Given the description of an element on the screen output the (x, y) to click on. 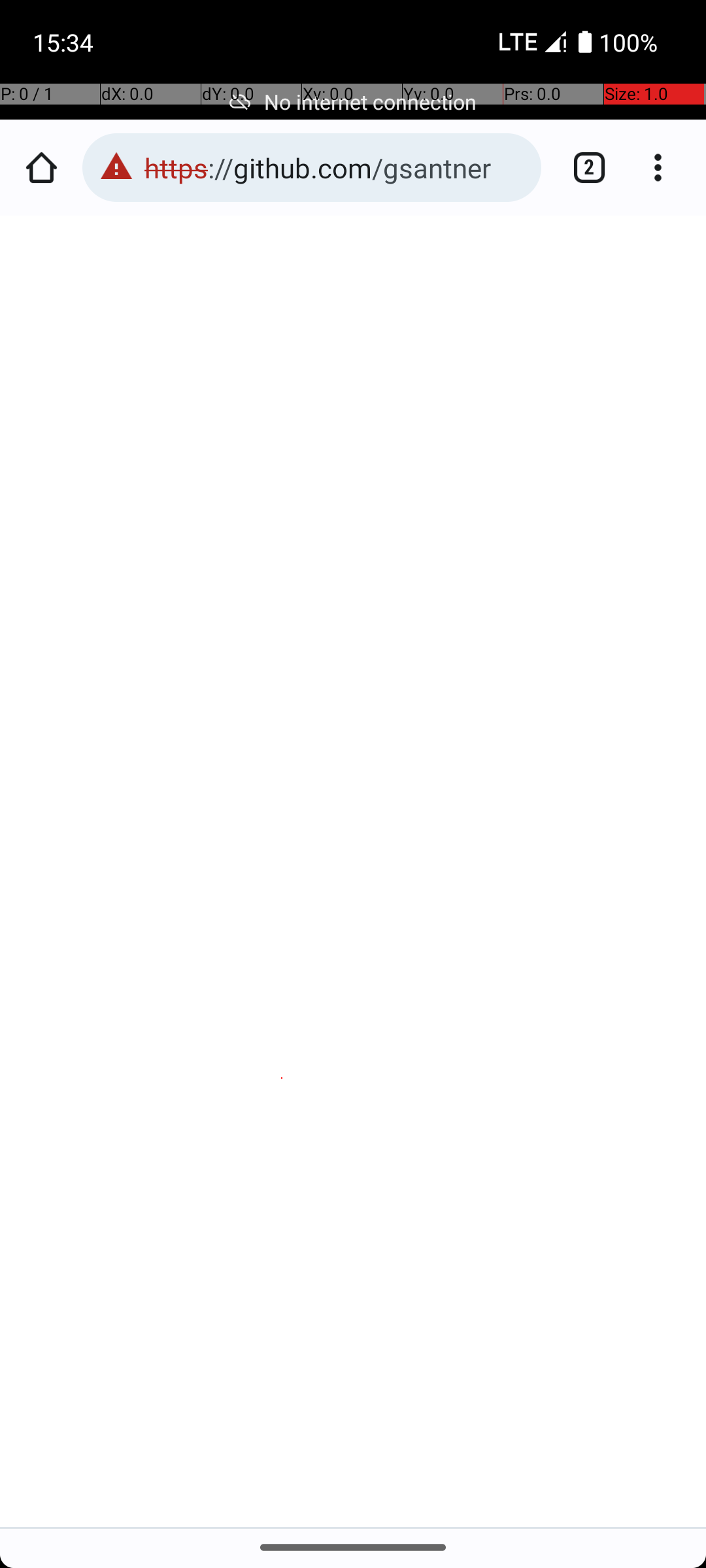
https://github.com/gsantner Element type: android.widget.EditText (335, 167)
